Given the description of an element on the screen output the (x, y) to click on. 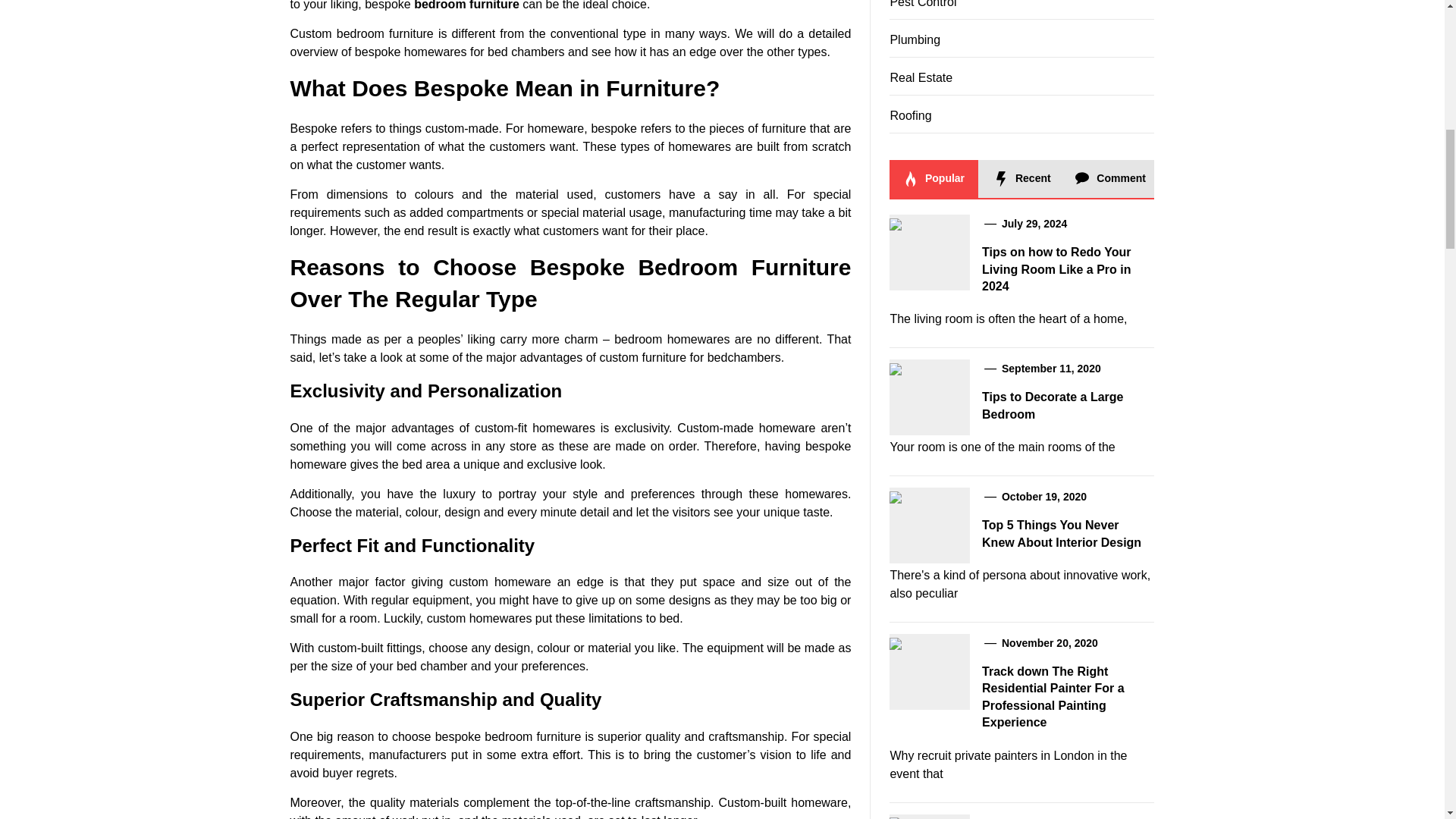
bedroom furniture (466, 5)
